Given the description of an element on the screen output the (x, y) to click on. 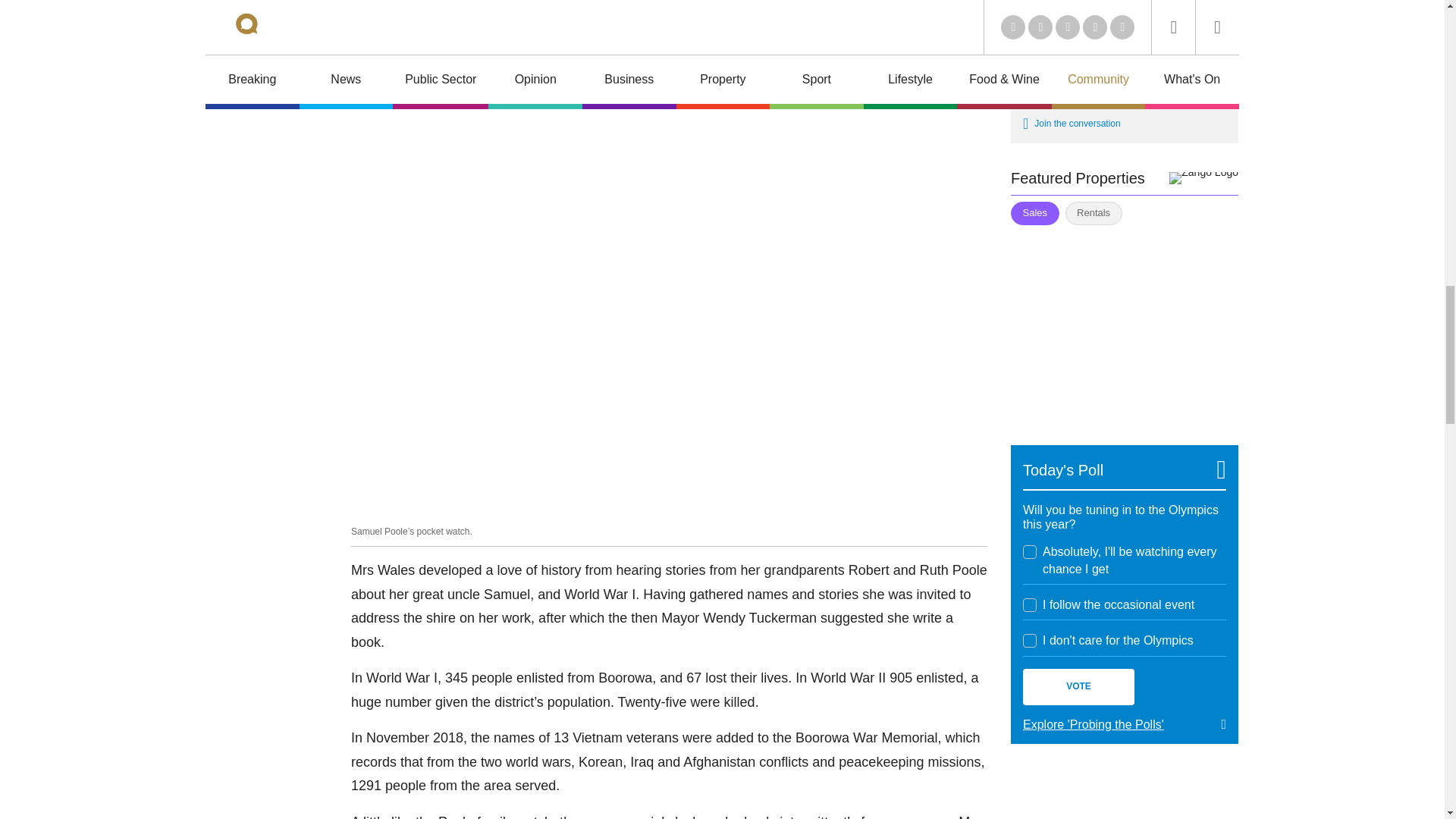
2044 (1029, 604)
   Vote    (1078, 687)
Zango Sales (1124, 325)
Zango (1204, 177)
2045 (1029, 640)
2043 (1029, 551)
